Given the description of an element on the screen output the (x, y) to click on. 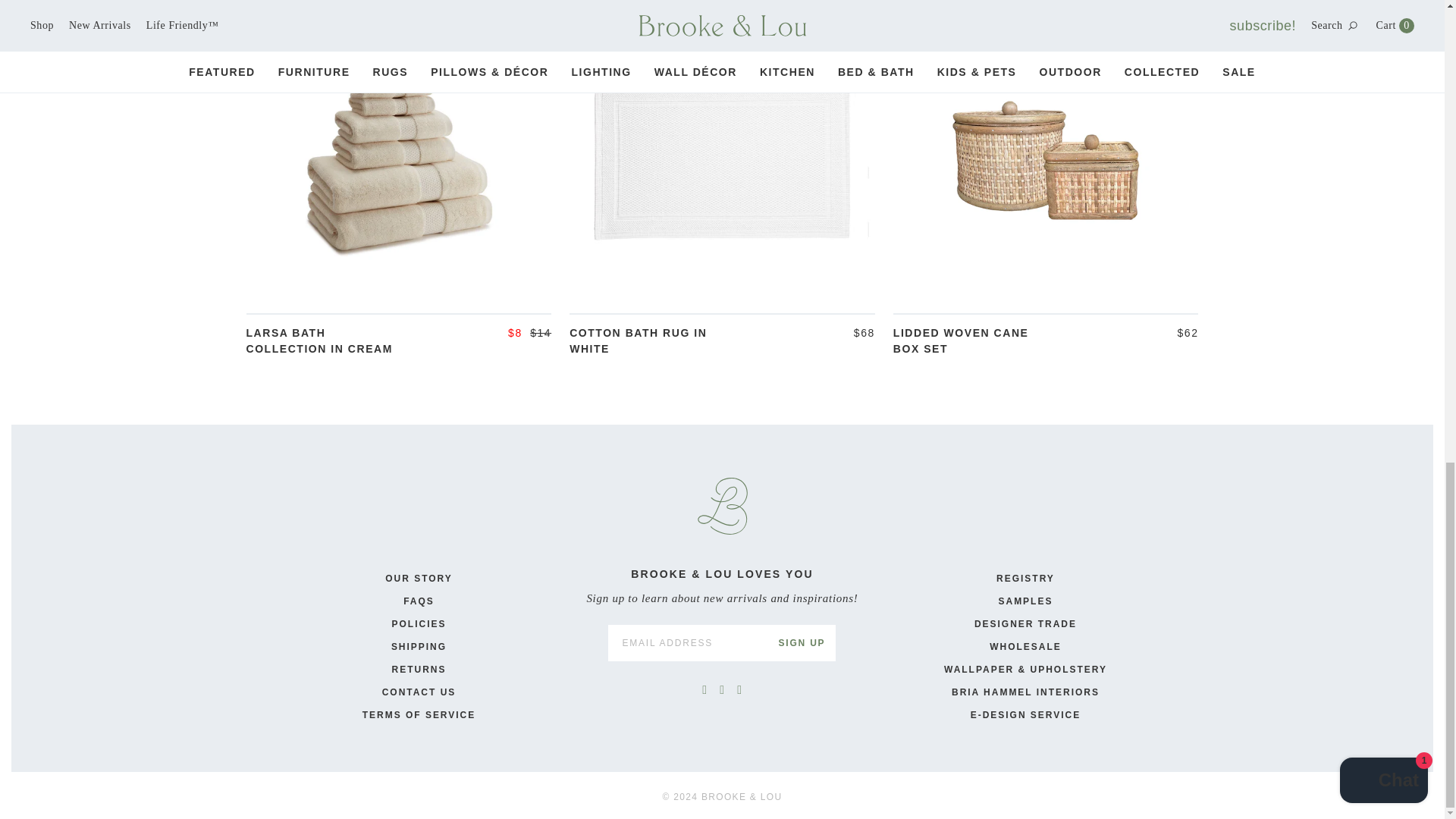
Sign Up (801, 642)
EMAIL ADDRESS (687, 642)
